Given the description of an element on the screen output the (x, y) to click on. 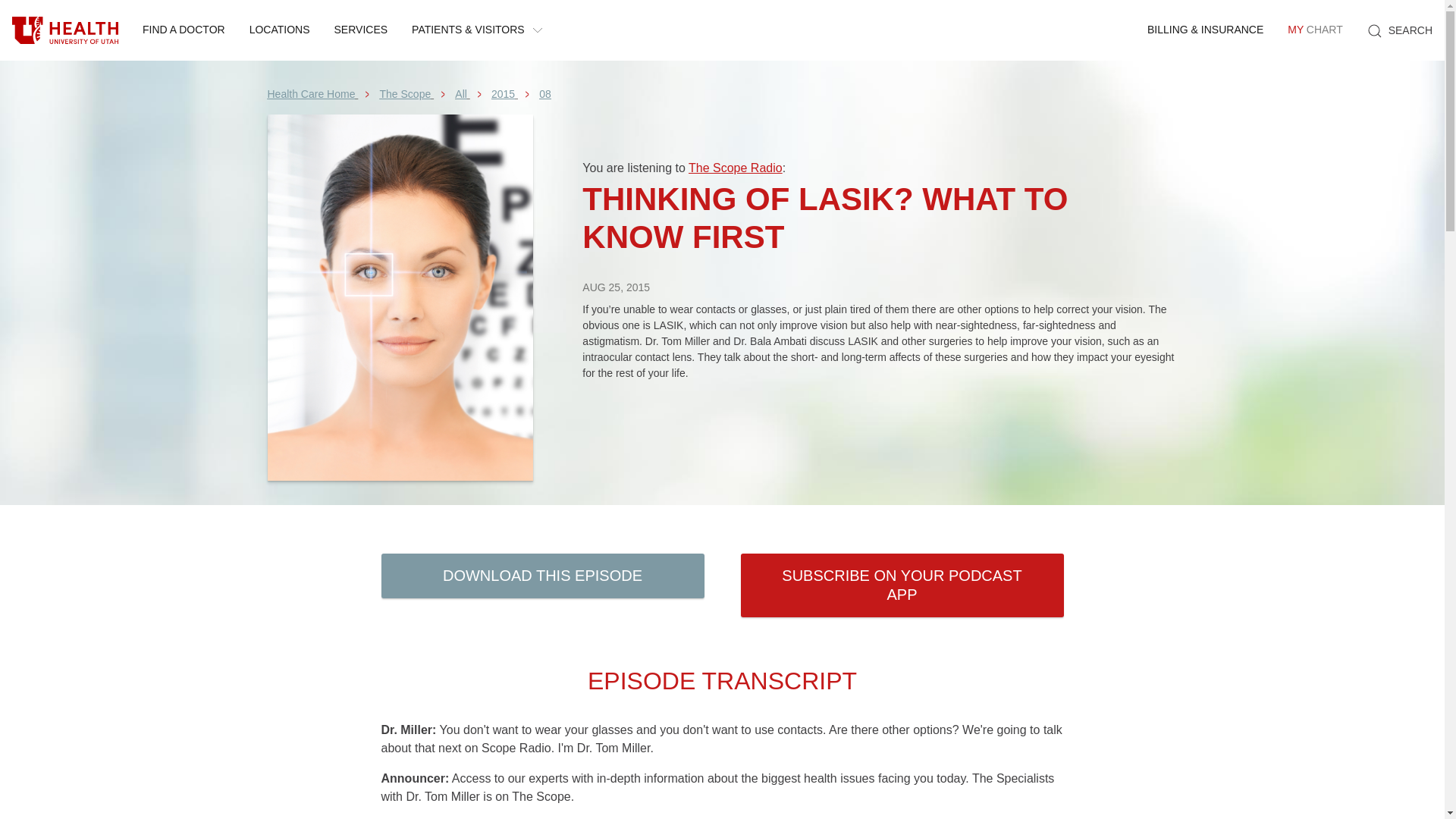
The Kaltura Dynamic Video Player (879, 420)
Skip to main content (1314, 30)
Health Care Home (65, 30)
SUBSCRIBE ON YOUR PODCAST APP (310, 93)
LOCATIONS (900, 585)
2015 (279, 30)
All (503, 93)
FIND A DOCTOR (460, 93)
